Given the description of an element on the screen output the (x, y) to click on. 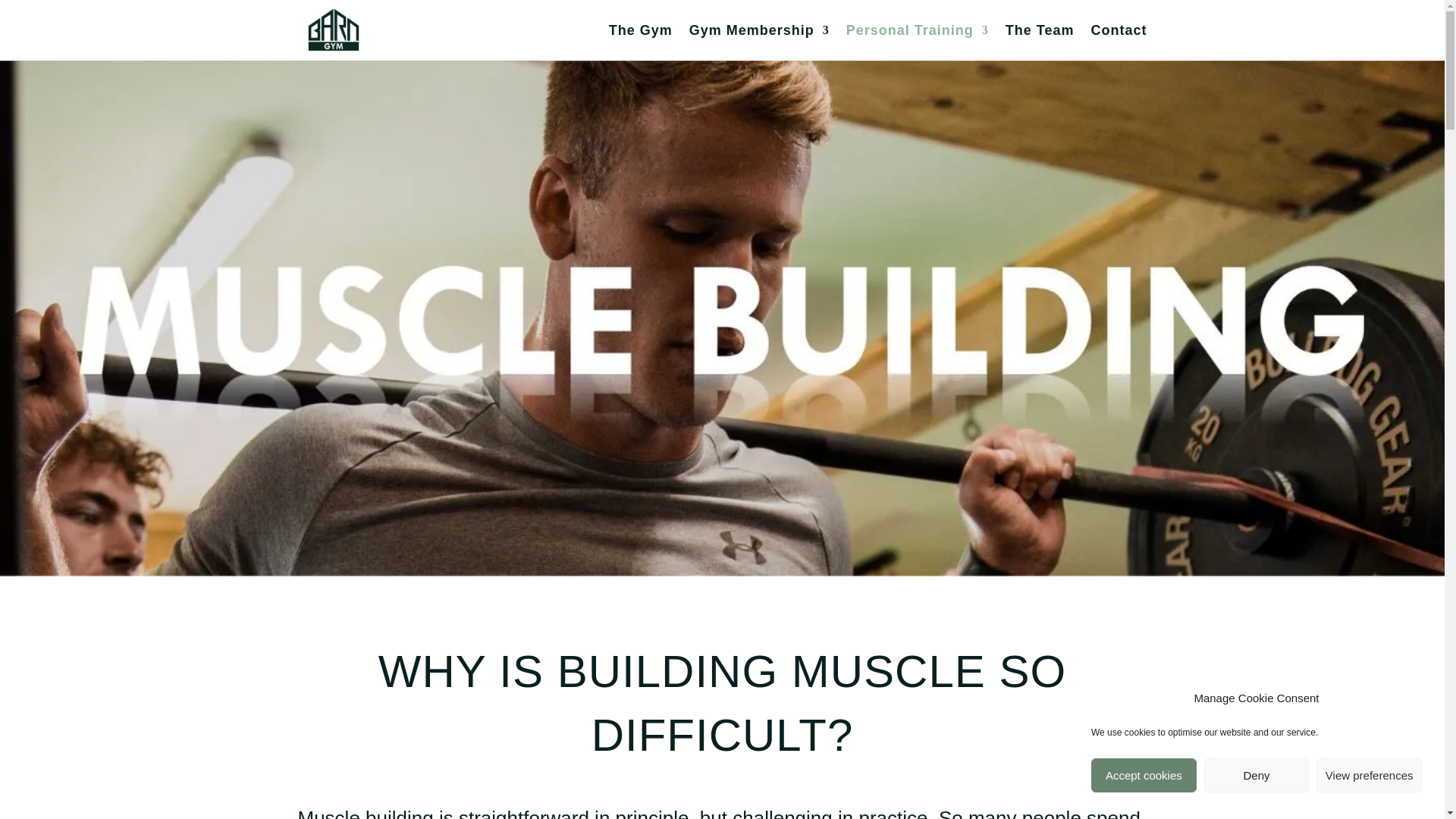
Accept cookies (1143, 775)
The Gym (640, 42)
The Team (1040, 42)
Personal Training (916, 42)
View preferences (1369, 775)
Gym Membership (758, 42)
Deny (1256, 775)
Contact (1118, 42)
